Given the description of an element on the screen output the (x, y) to click on. 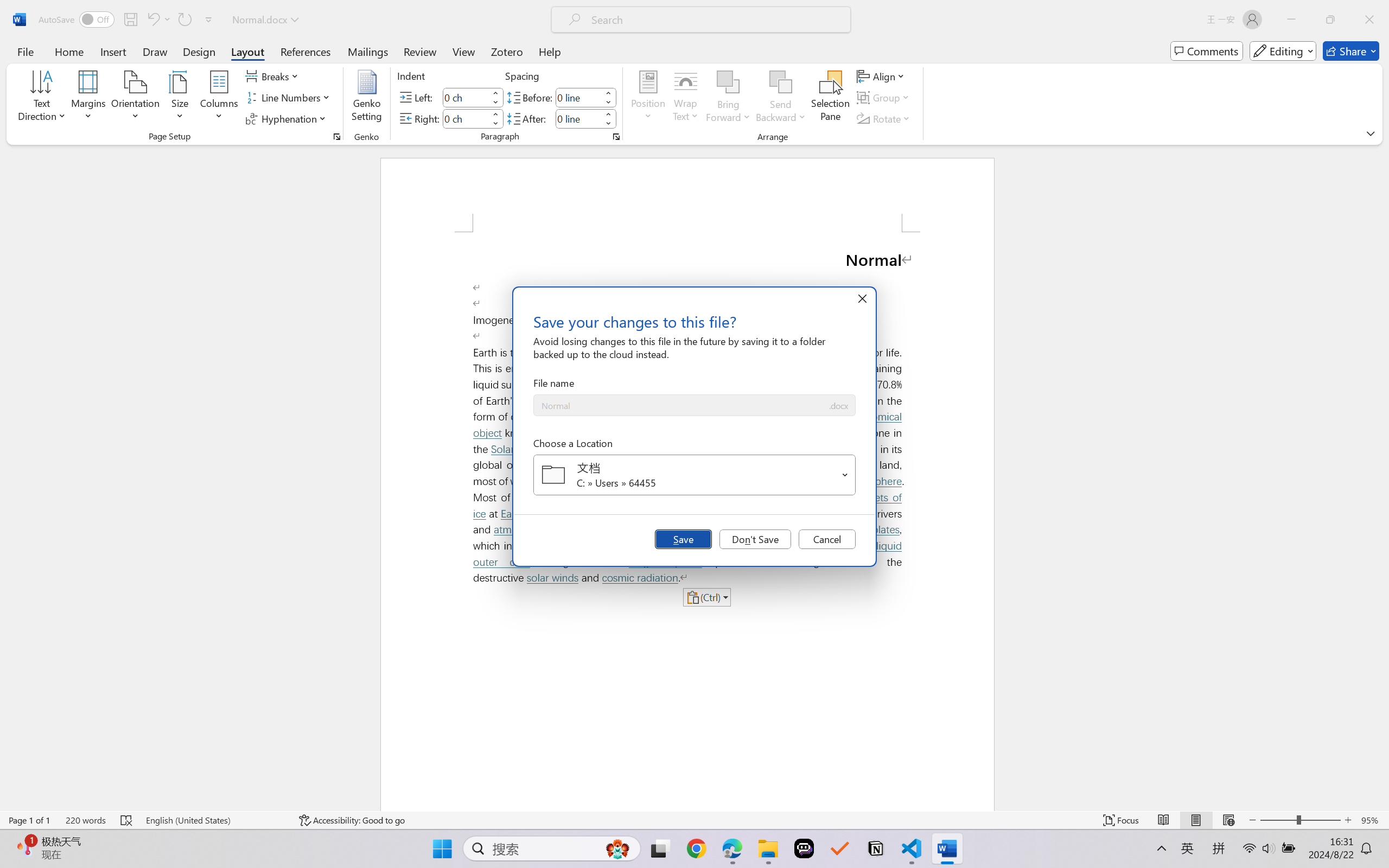
Position (647, 97)
Paragraph... (615, 136)
Margins (88, 97)
Notion (875, 848)
Indent Left (465, 96)
Rotate (884, 118)
Don't Save (755, 538)
Spacing After (578, 118)
Breaks (273, 75)
